Given the description of an element on the screen output the (x, y) to click on. 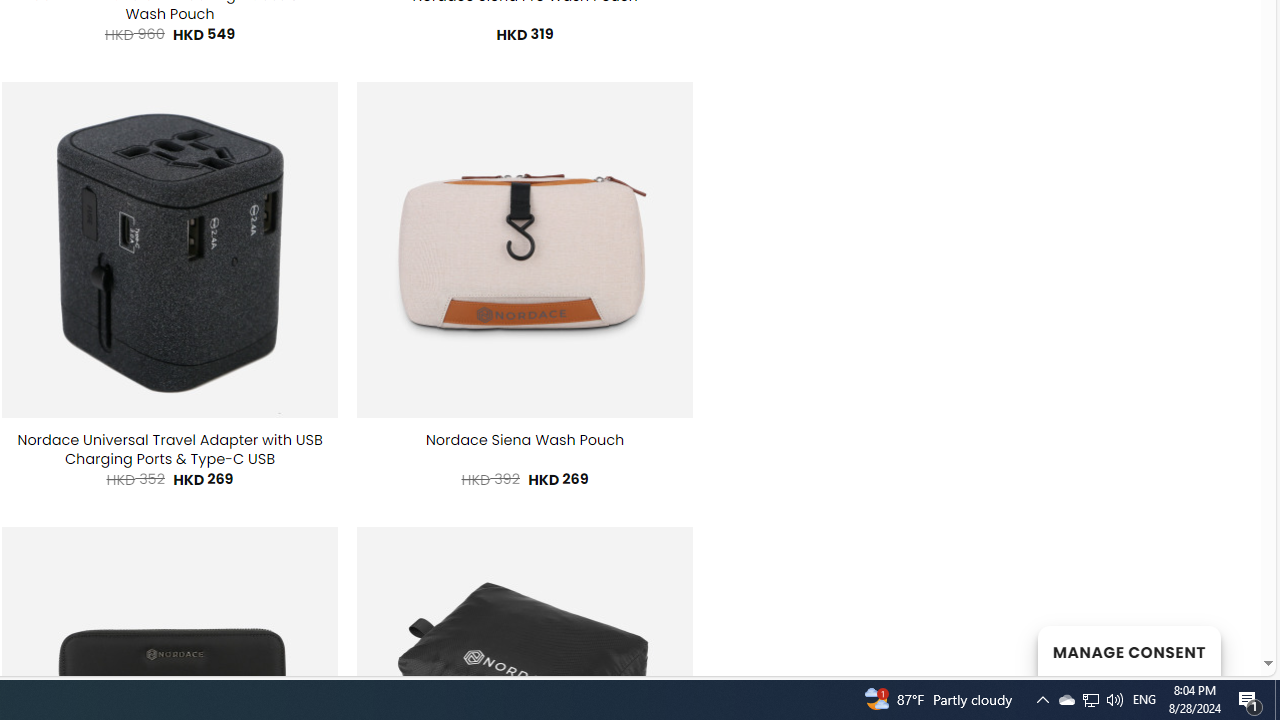
MANAGE CONSENT (1128, 650)
Nordace Siena Wash Pouch (524, 440)
